Given the description of an element on the screen output the (x, y) to click on. 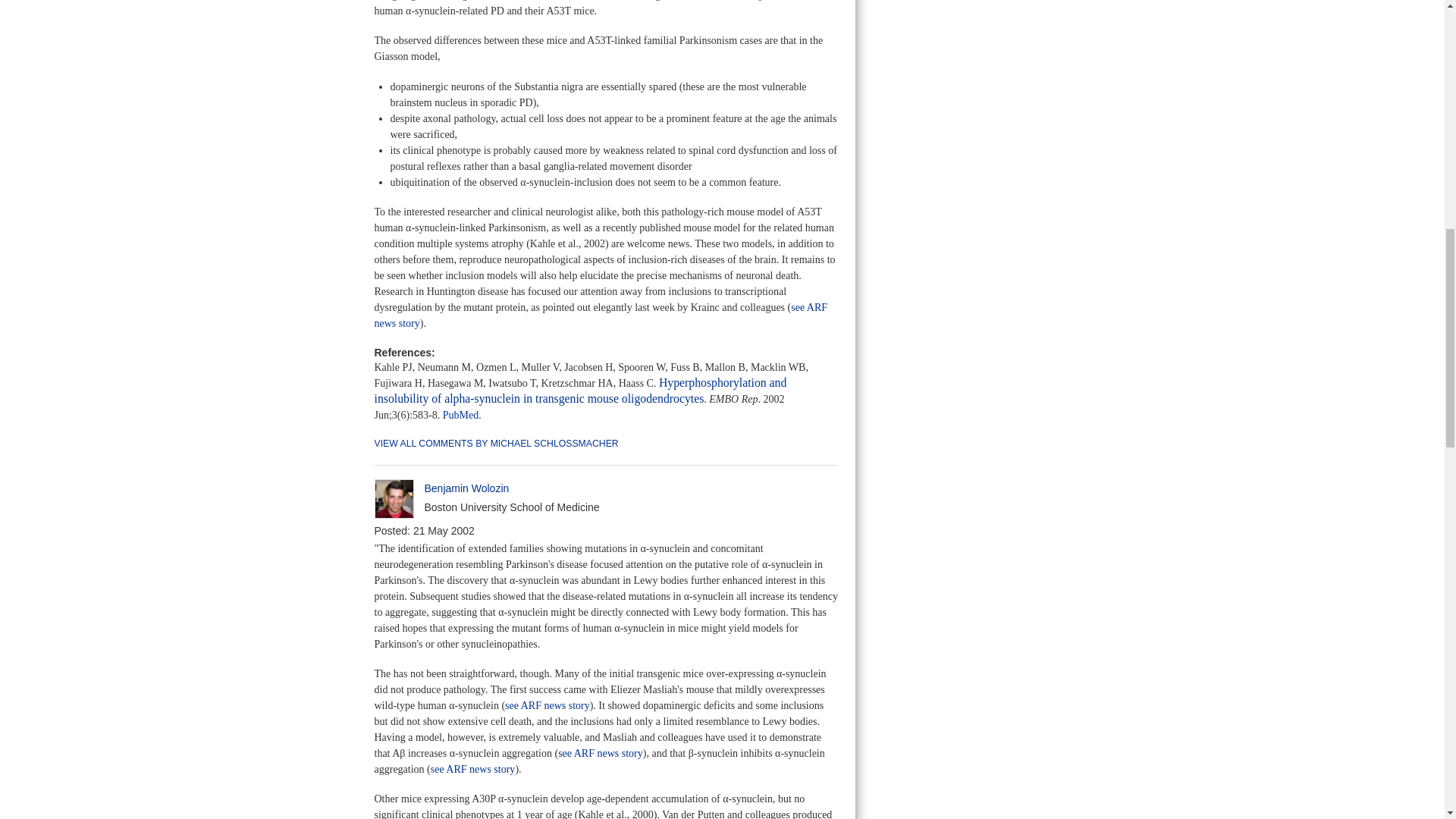
PubMed (460, 414)
Benjamin Wolozin (467, 488)
VIEW ALL COMMENTS BY MICHAEL SCHLOSSMACHER (496, 443)
see ARF news story (547, 705)
see ARF news story (601, 315)
see ARF news story (472, 768)
see ARF news story (600, 753)
